Given the description of an element on the screen output the (x, y) to click on. 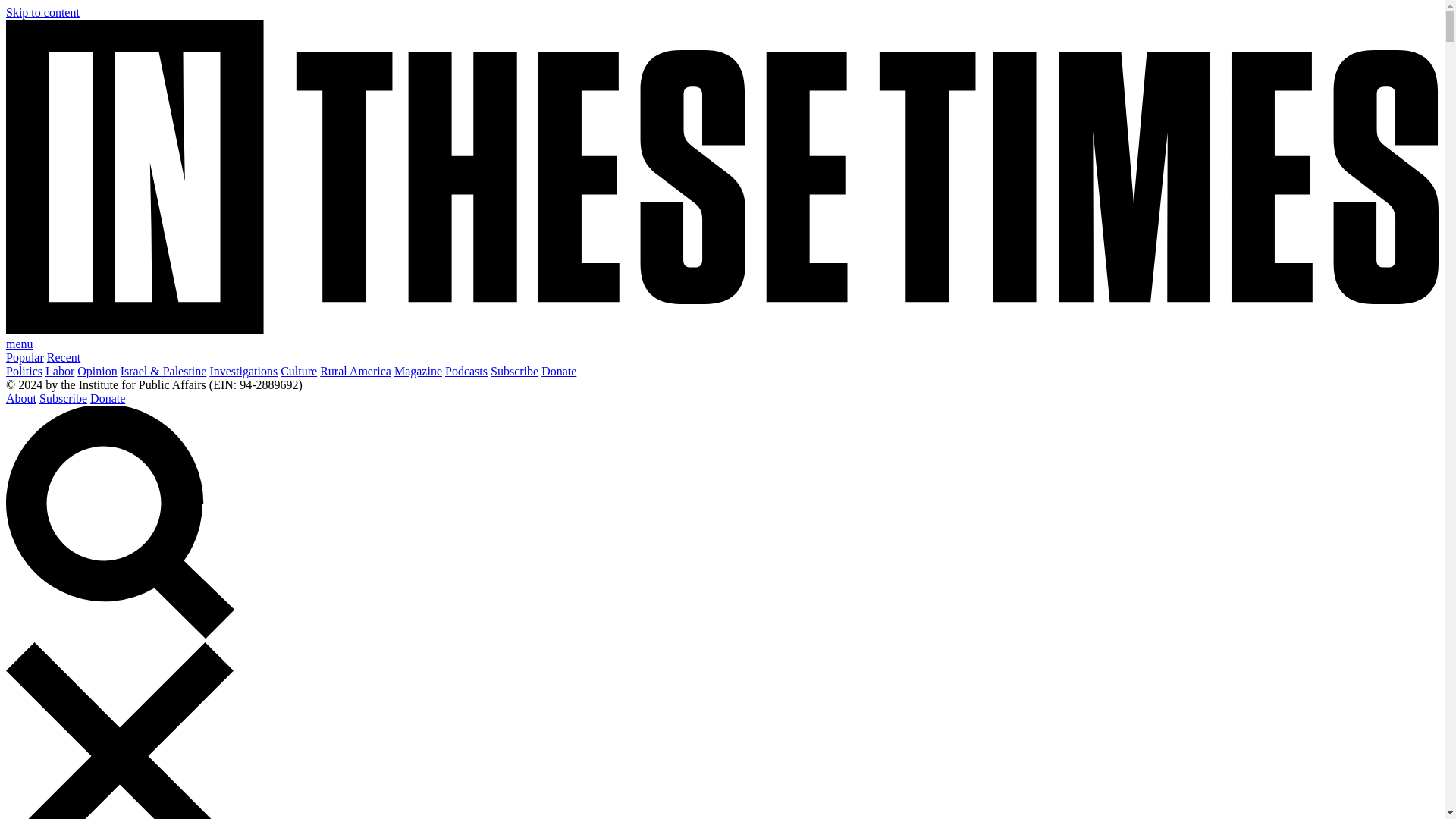
Politics (23, 370)
Subscribe (514, 370)
Rural America (355, 370)
Culture (299, 370)
Popular (24, 357)
Labor (59, 370)
Opinion (96, 370)
close (118, 730)
About (20, 398)
Magazine (418, 370)
Donate (558, 370)
Investigations (243, 370)
Podcasts (466, 370)
Recent (63, 357)
search (118, 522)
